Given the description of an element on the screen output the (x, y) to click on. 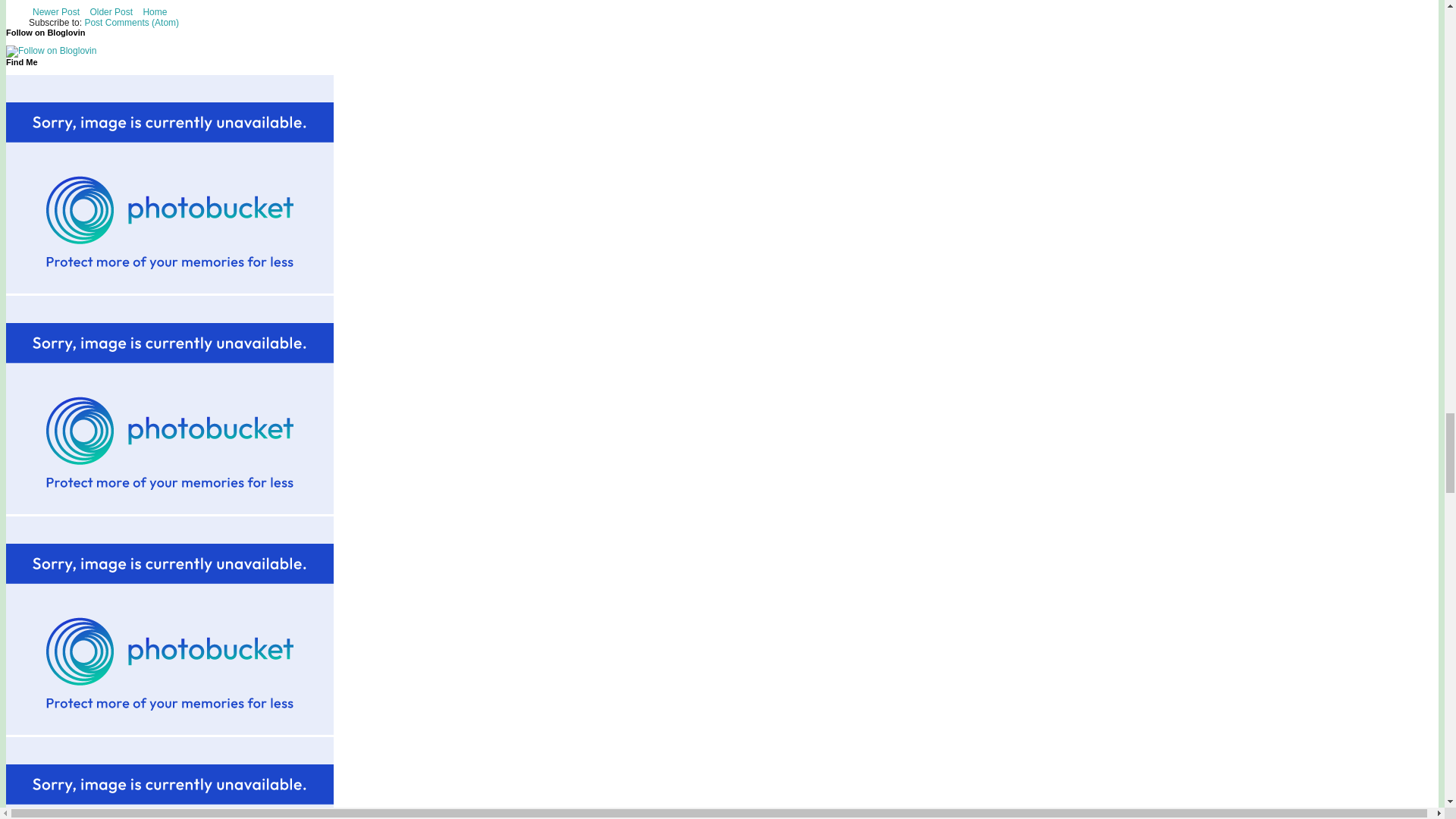
Older Post (110, 12)
Newer Post (55, 12)
Follow Alison Can Read on Bloglovin (50, 50)
